Given the description of an element on the screen output the (x, y) to click on. 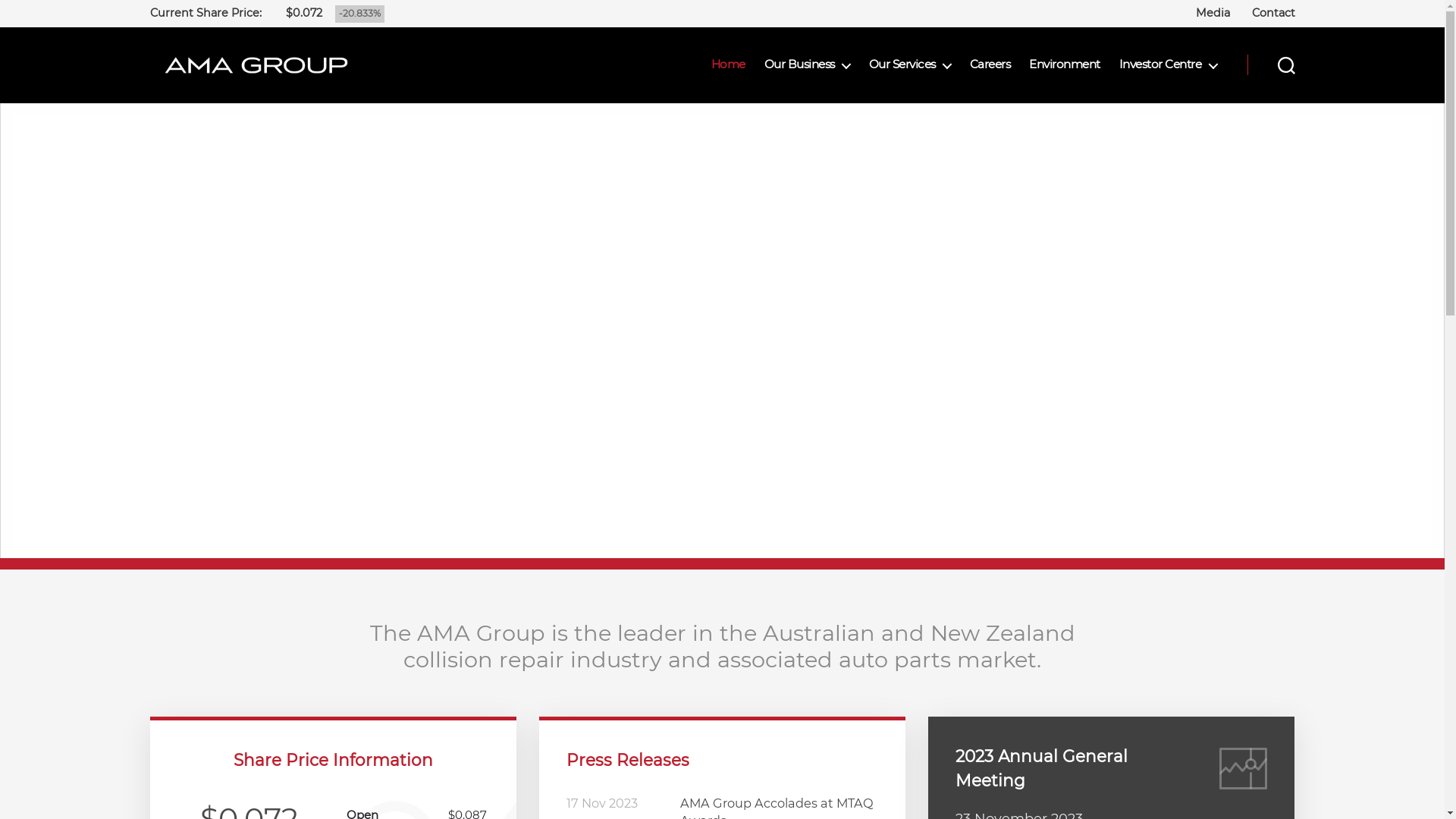
Environment Element type: text (1064, 64)
Our Business Element type: text (807, 64)
Contact Element type: text (1272, 12)
Careers Element type: text (989, 64)
Investor Centre Element type: text (1168, 64)
Media Element type: text (1212, 12)
Our Services Element type: text (909, 64)
Home Element type: text (728, 64)
